Given the description of an element on the screen output the (x, y) to click on. 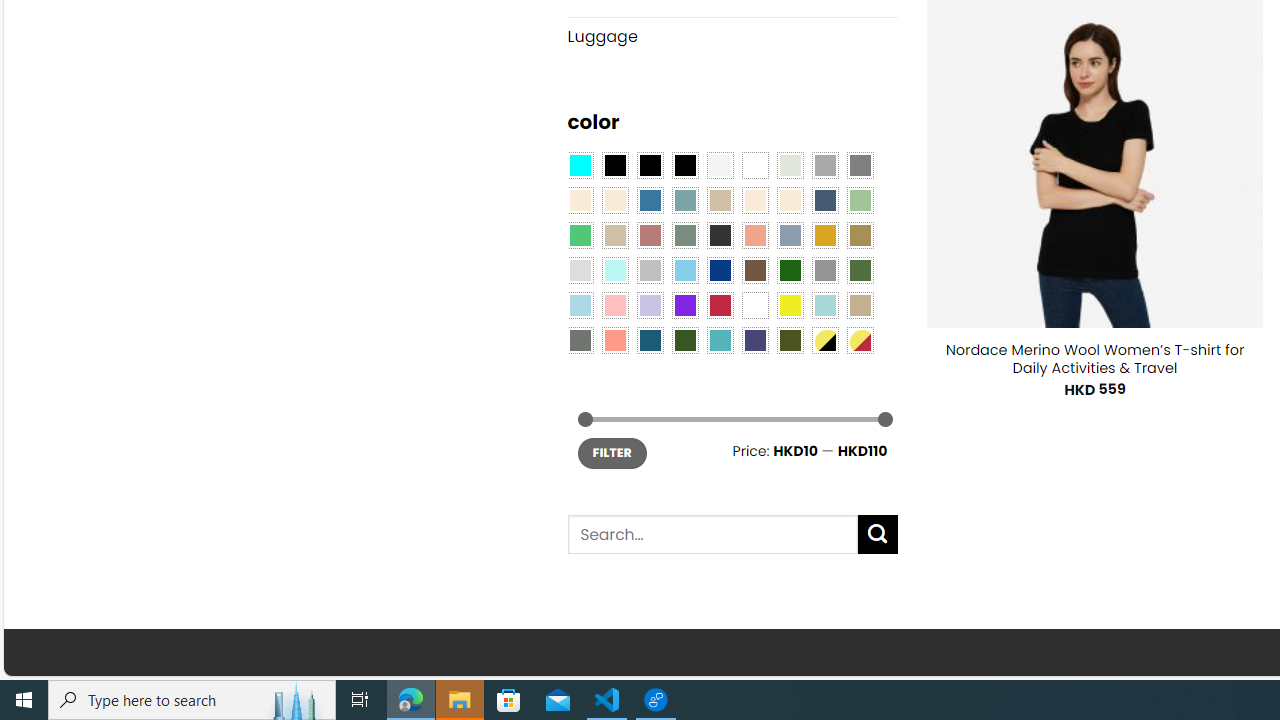
Submit (877, 533)
Green (859, 269)
Emerald Green (579, 234)
Dark Gray (824, 164)
Caramel (755, 200)
Navy Blue (719, 269)
All Gray (859, 164)
Rose (650, 234)
Yellow (789, 305)
Beige-Brown (614, 200)
Light Blue (579, 305)
Beige (579, 200)
Gold (824, 234)
Clear (755, 164)
Light Taupe (614, 234)
